Given the description of an element on the screen output the (x, y) to click on. 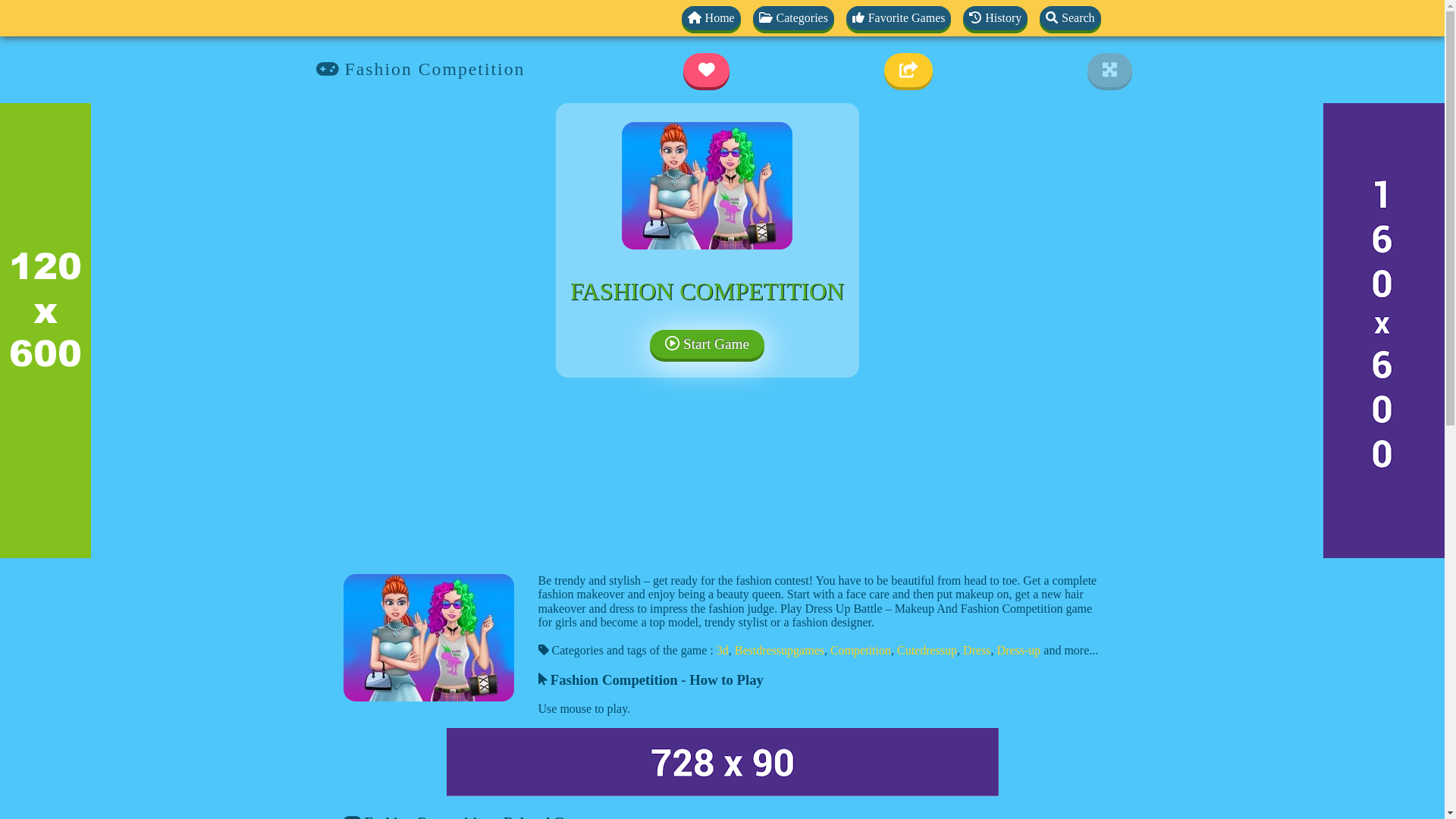
3d (722, 649)
Home (711, 17)
Share (908, 69)
Add to Favorites (706, 69)
Full Screen (1109, 69)
Competition (860, 649)
Search (1069, 17)
